Given the description of an element on the screen output the (x, y) to click on. 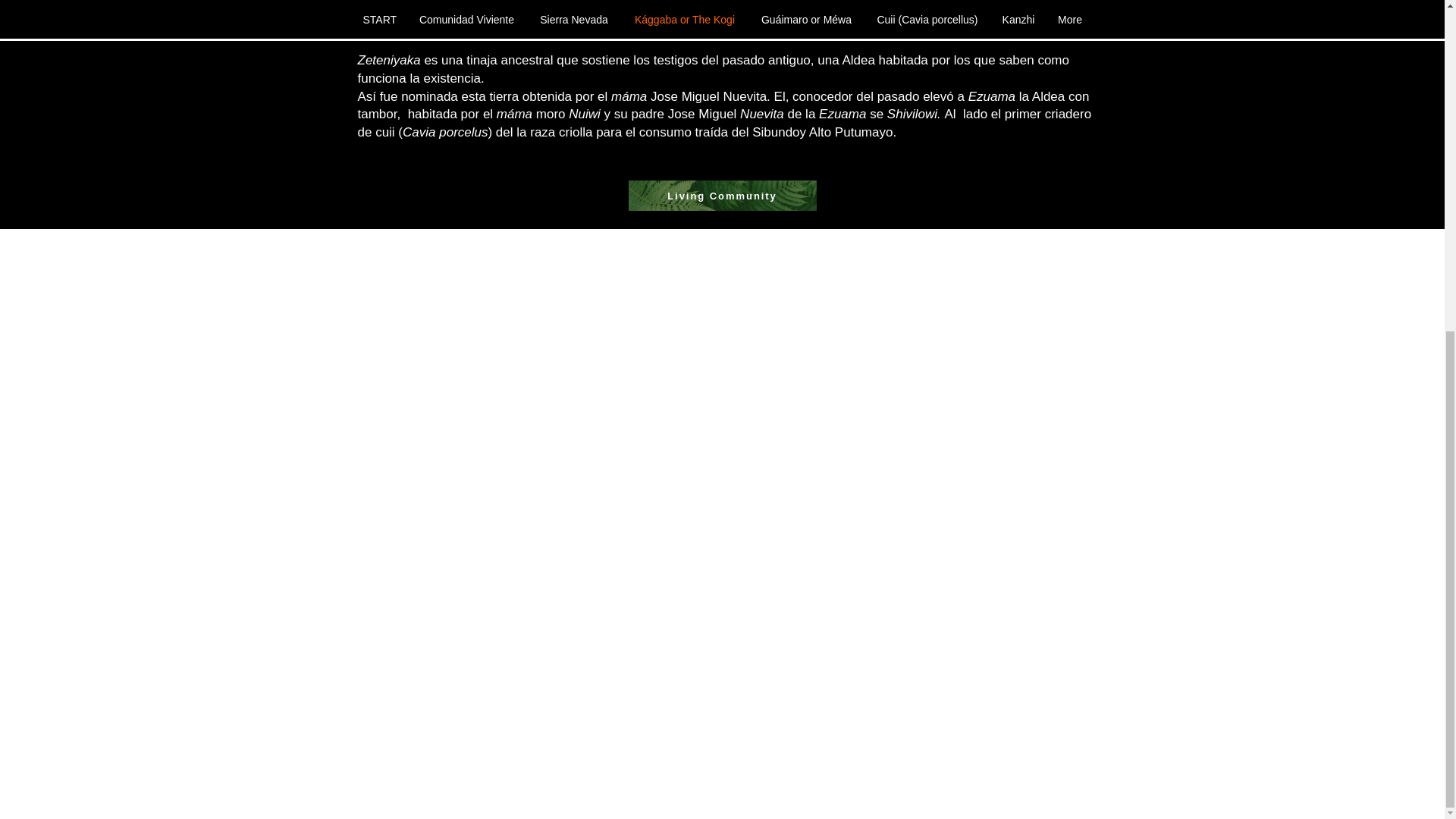
Sierra Nevada (574, 20)
START (379, 20)
Living Community (721, 195)
Comunidad Viviente (466, 20)
Kanzhi (1017, 20)
